Given the description of an element on the screen output the (x, y) to click on. 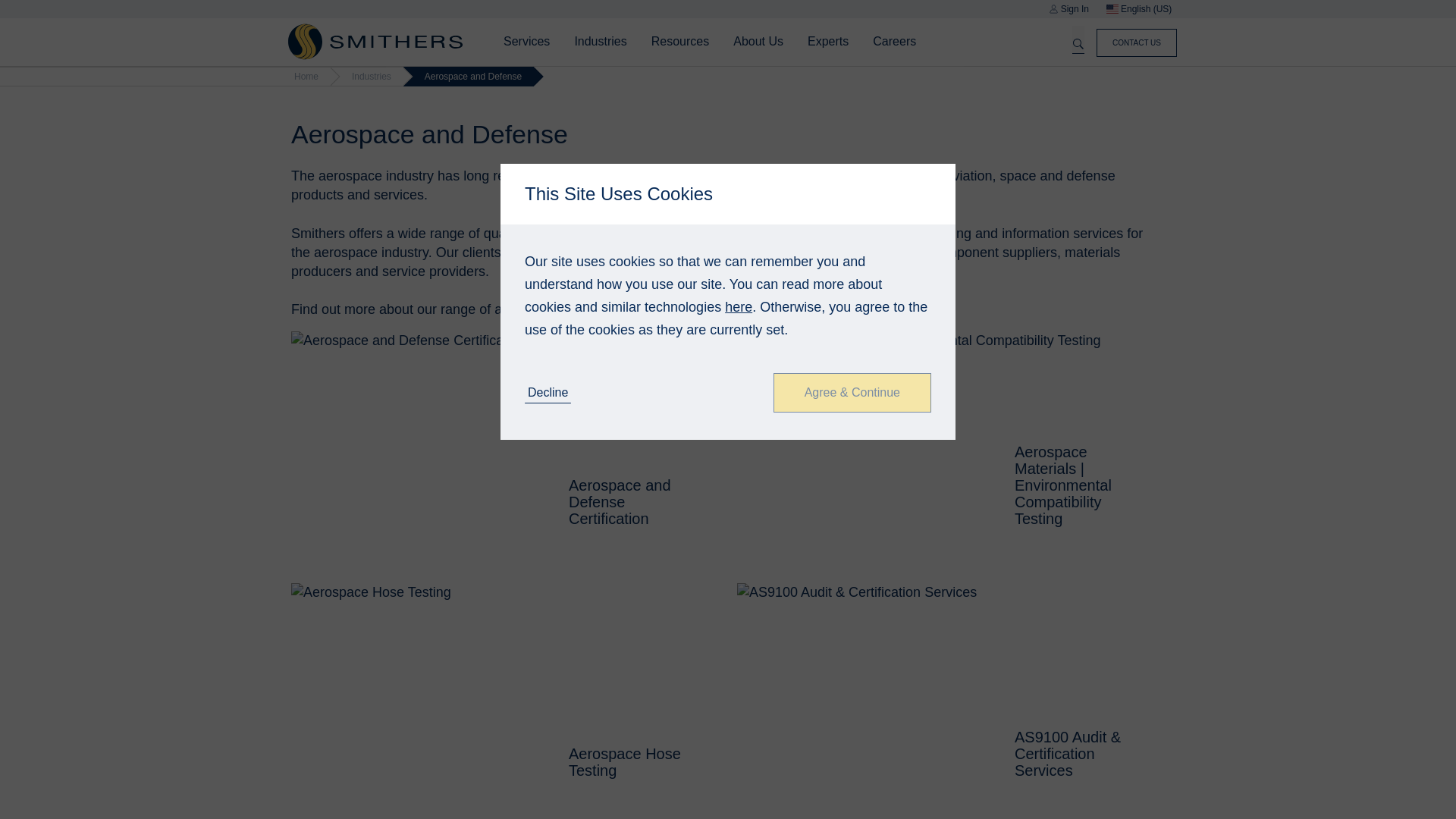
Login (885, 465)
Services (526, 41)
Reset Password (855, 465)
Sign In (1068, 9)
Home (375, 41)
Industries (599, 41)
